Given the description of an element on the screen output the (x, y) to click on. 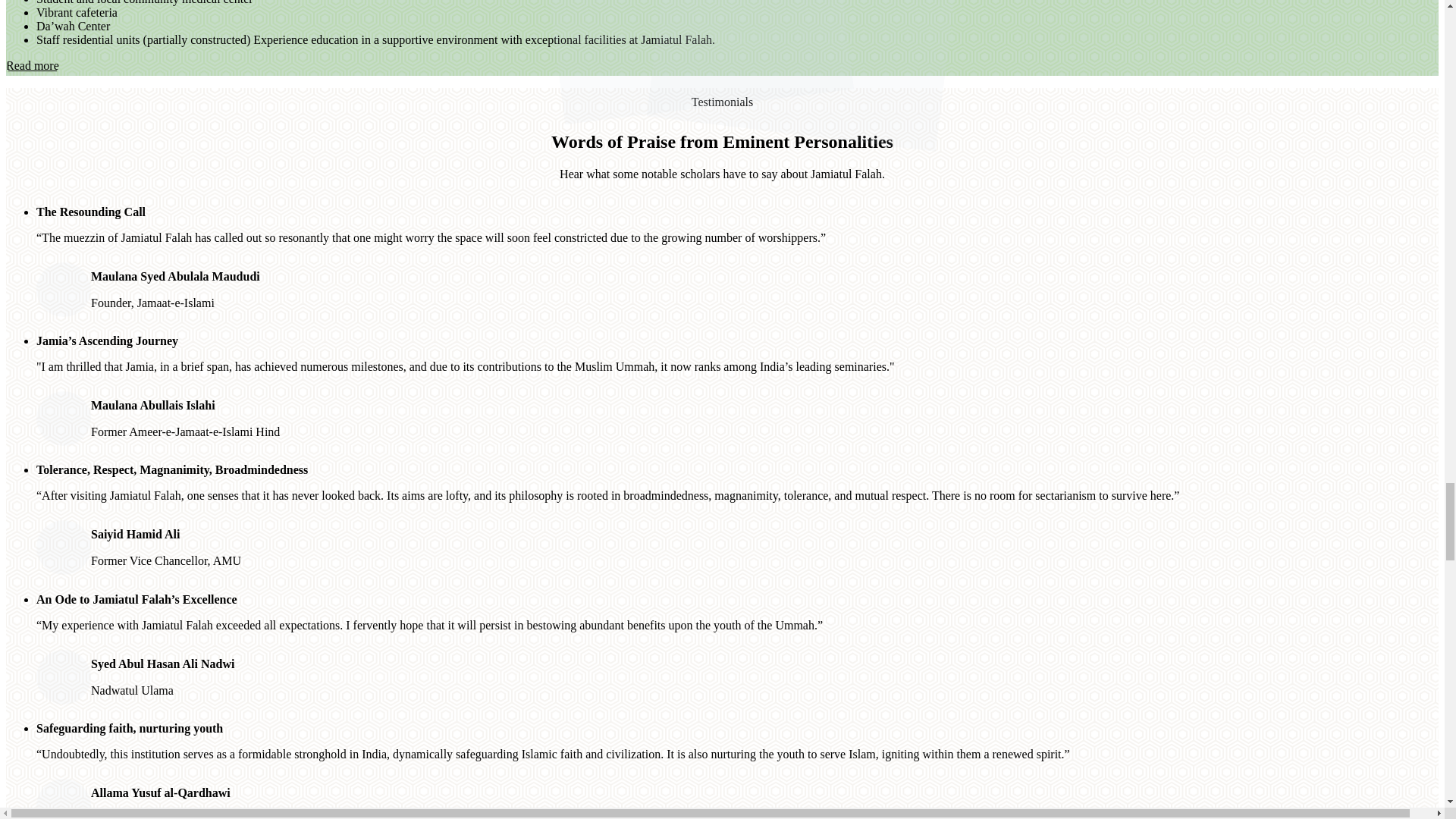
Read more (32, 65)
